Given the description of an element on the screen output the (x, y) to click on. 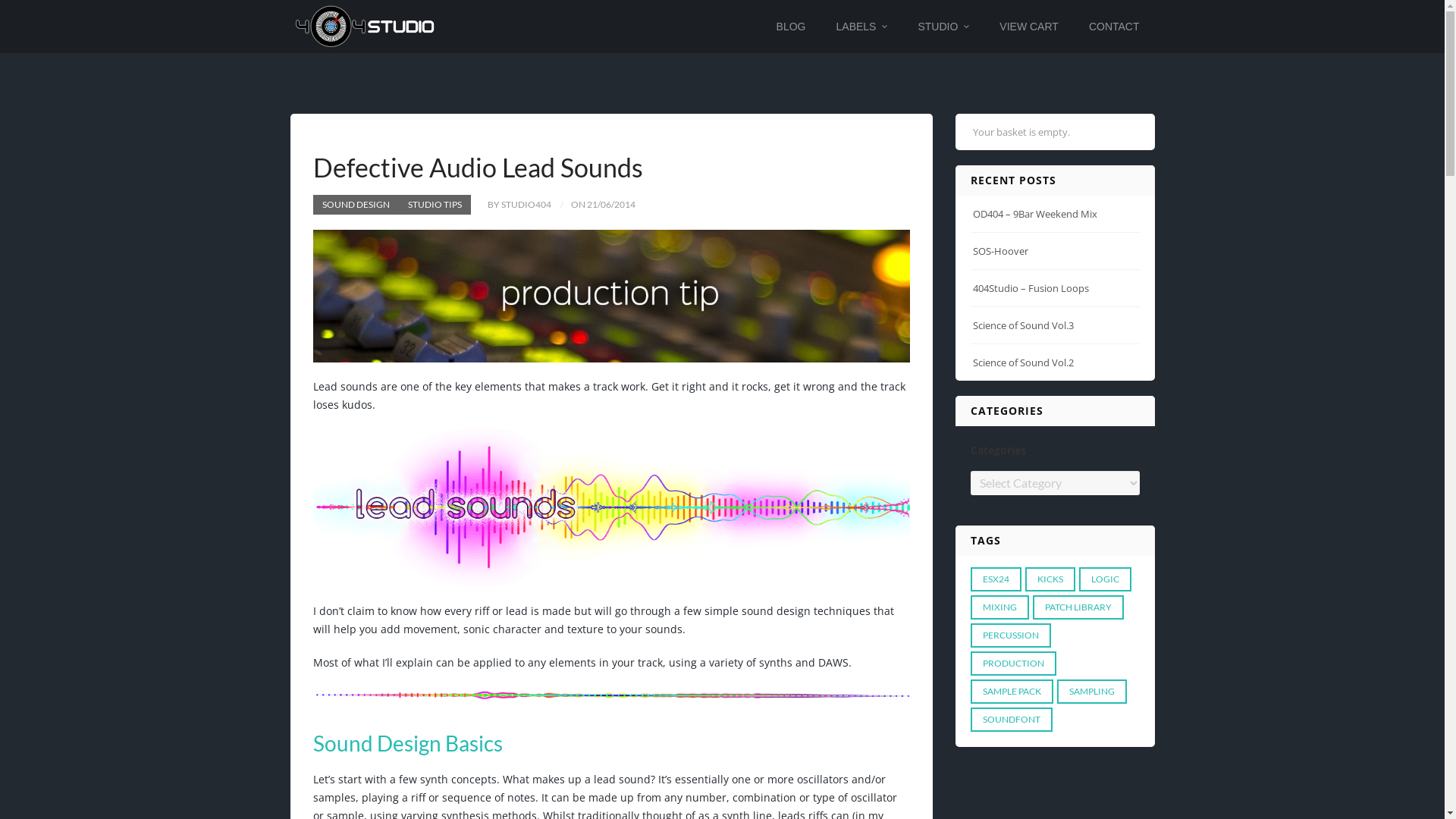
404Studio - Audio Production & Sound Design Element type: hover (364, 25)
PRODUCTION Element type: text (1013, 663)
CONTACT Element type: text (1114, 26)
Science of Sound Vol.3 Element type: text (1022, 325)
STUDIO TIPS Element type: text (434, 204)
Science of Sound Vol.2 Element type: text (1022, 362)
SAMPLE PACK Element type: text (1011, 691)
SOS-Hoover Element type: text (1000, 250)
LOGIC Element type: text (1105, 579)
SOUNDFONT Element type: text (1011, 719)
SOUND DESIGN Element type: text (355, 204)
STUDIO Element type: text (943, 26)
BLOG Element type: text (791, 26)
VIEW CART Element type: text (1029, 26)
MIXING Element type: text (999, 607)
LABELS Element type: text (862, 26)
BY STUDIO404 Element type: text (510, 204)
PERCUSSION Element type: text (1010, 635)
ESX24 Element type: text (995, 579)
404Studio - Audio Production & Sound Design Element type: hover (364, 26)
SAMPLING Element type: text (1091, 691)
PATCH LIBRARY Element type: text (1077, 607)
KICKS Element type: text (1050, 579)
